Given the description of an element on the screen output the (x, y) to click on. 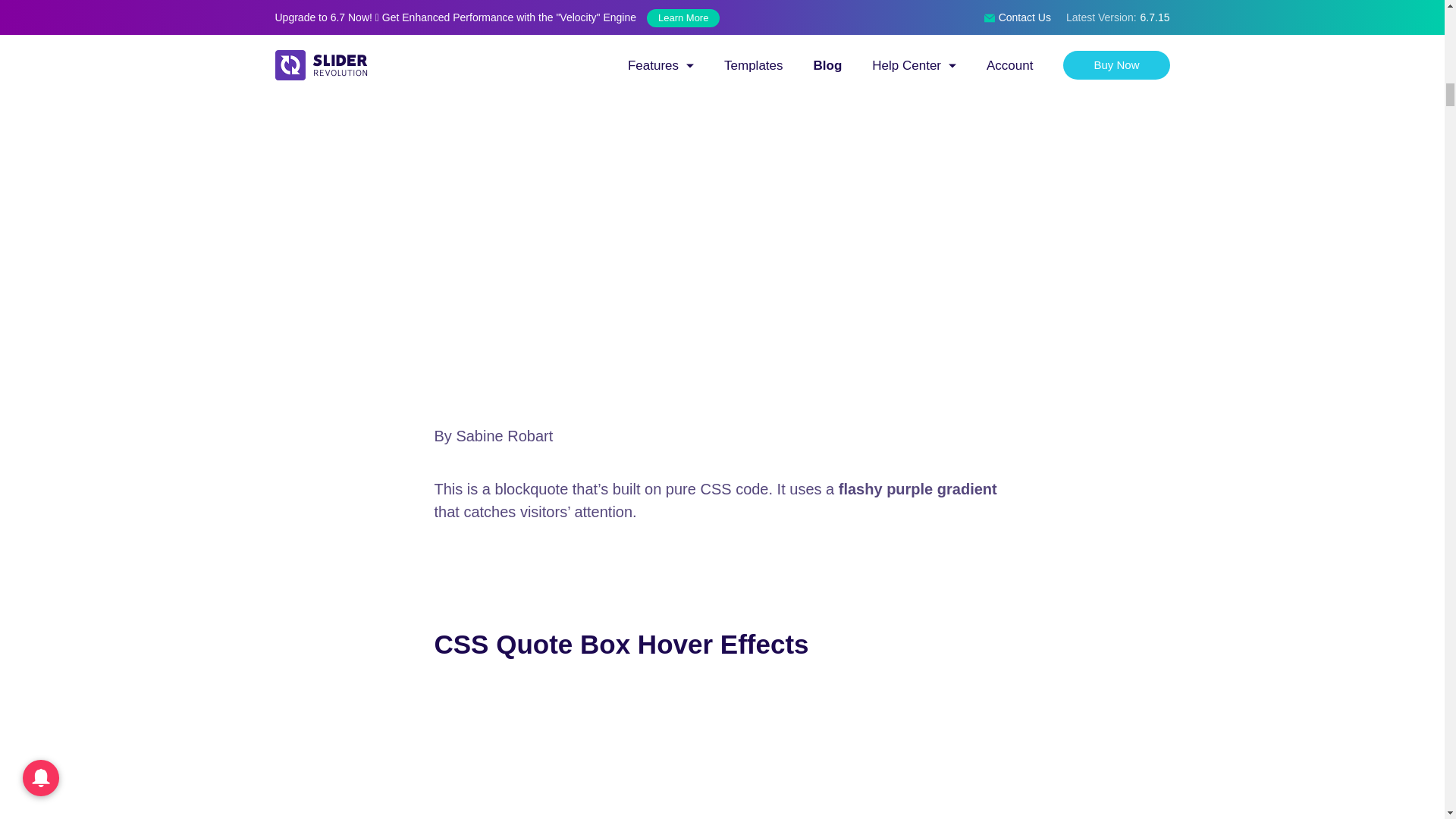
CodePen Embed oJOPdq (721, 750)
